Given the description of an element on the screen output the (x, y) to click on. 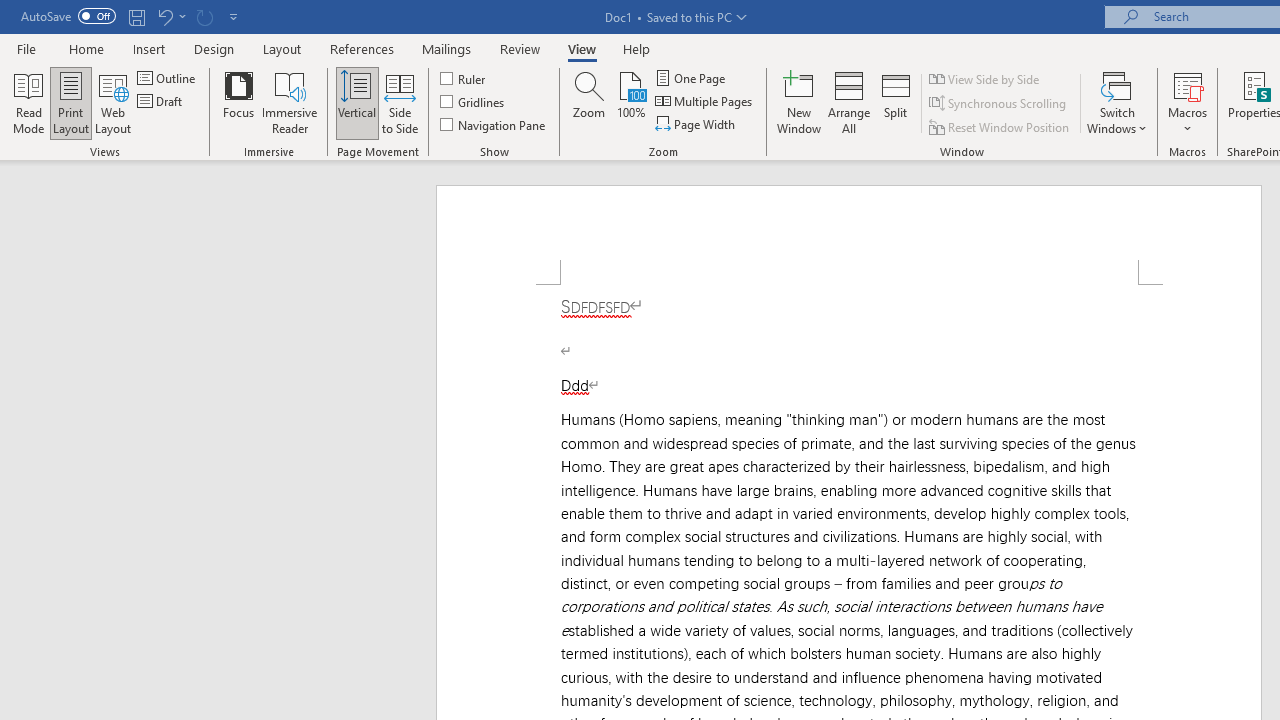
Read Mode (28, 102)
Customize Quick Access Toolbar (234, 15)
Undo Apply Quick Style Set (170, 15)
More Options (1187, 121)
Navigation Pane (493, 124)
File Tab (26, 48)
AutoSave (68, 16)
Layout (282, 48)
Ruler (463, 78)
Side to Side (399, 102)
Save (136, 15)
Can't Repeat (204, 15)
Help (637, 48)
Print Layout (70, 102)
Quick Access Toolbar (131, 16)
